Given the description of an element on the screen output the (x, y) to click on. 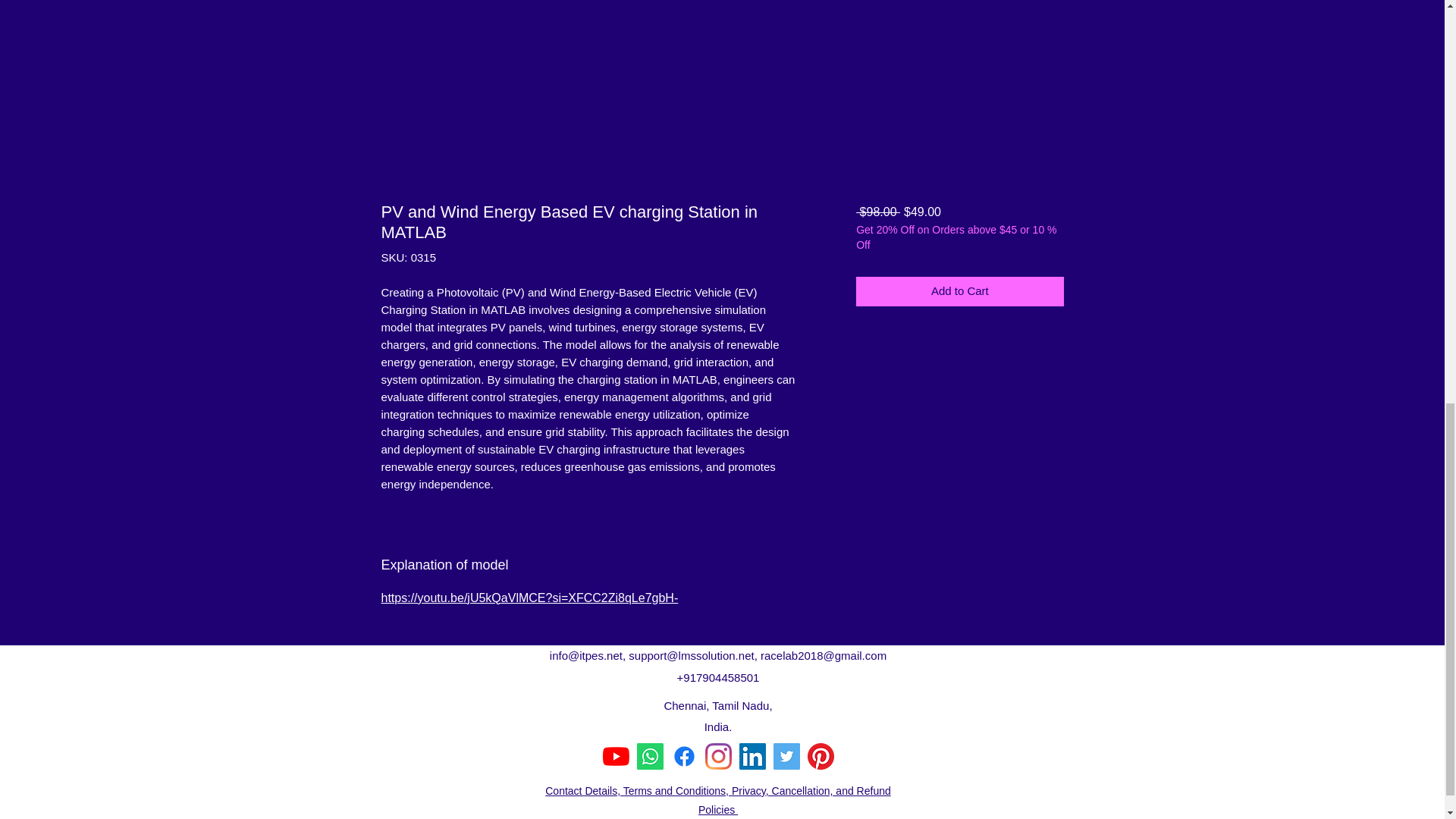
Add to Cart (959, 291)
